Given the description of an element on the screen output the (x, y) to click on. 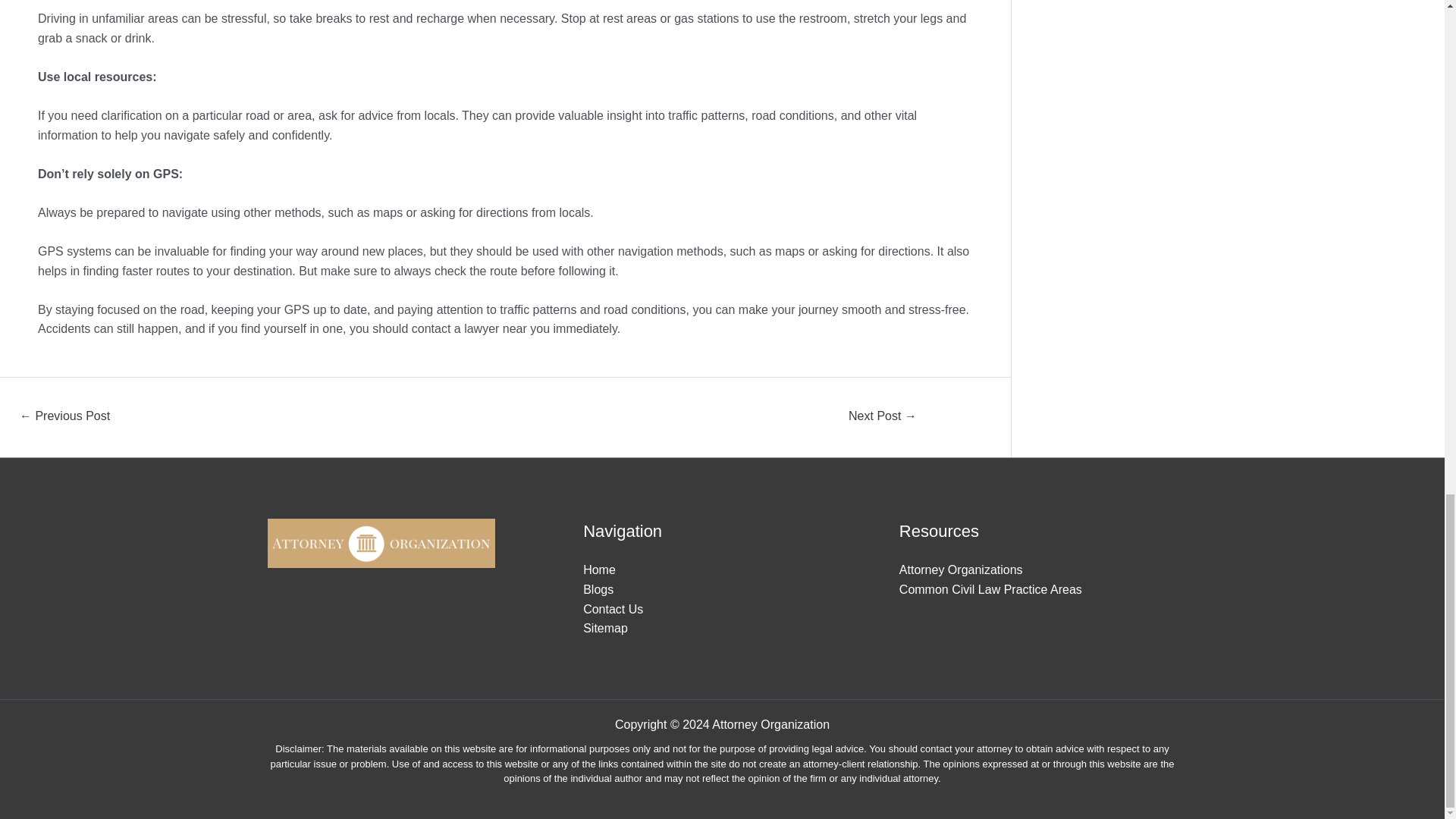
Blogs (597, 589)
Attorney Organizations (961, 569)
Home (599, 569)
5 Crucial Pieces Of Evidence For A Medical Lawsuit (882, 417)
Who Gets The Family Pet In A Divorce? (64, 417)
Common Civil Law Practice Areas (990, 589)
Contact Us (613, 608)
Sitemap (605, 627)
